Given the description of an element on the screen output the (x, y) to click on. 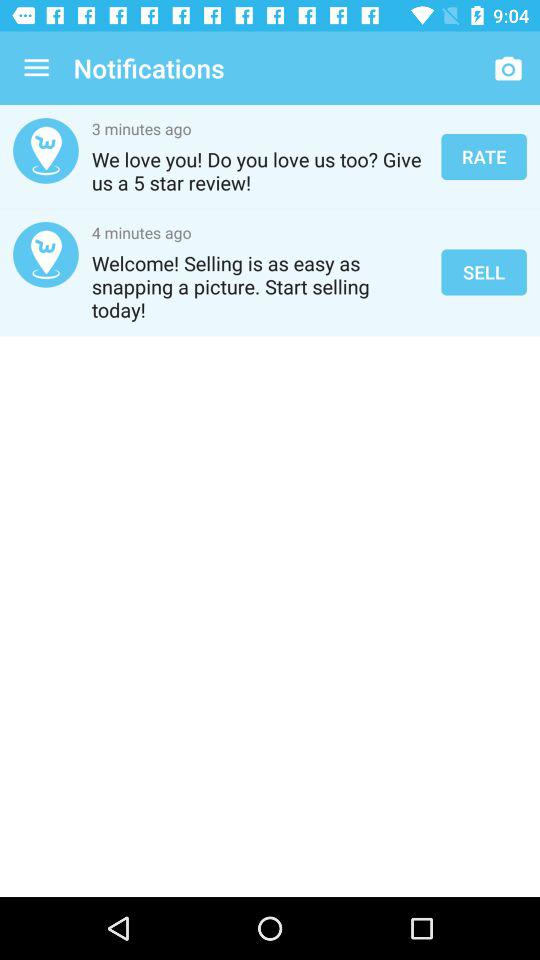
tap item below the welcome selling is item (270, 433)
